Given the description of an element on the screen output the (x, y) to click on. 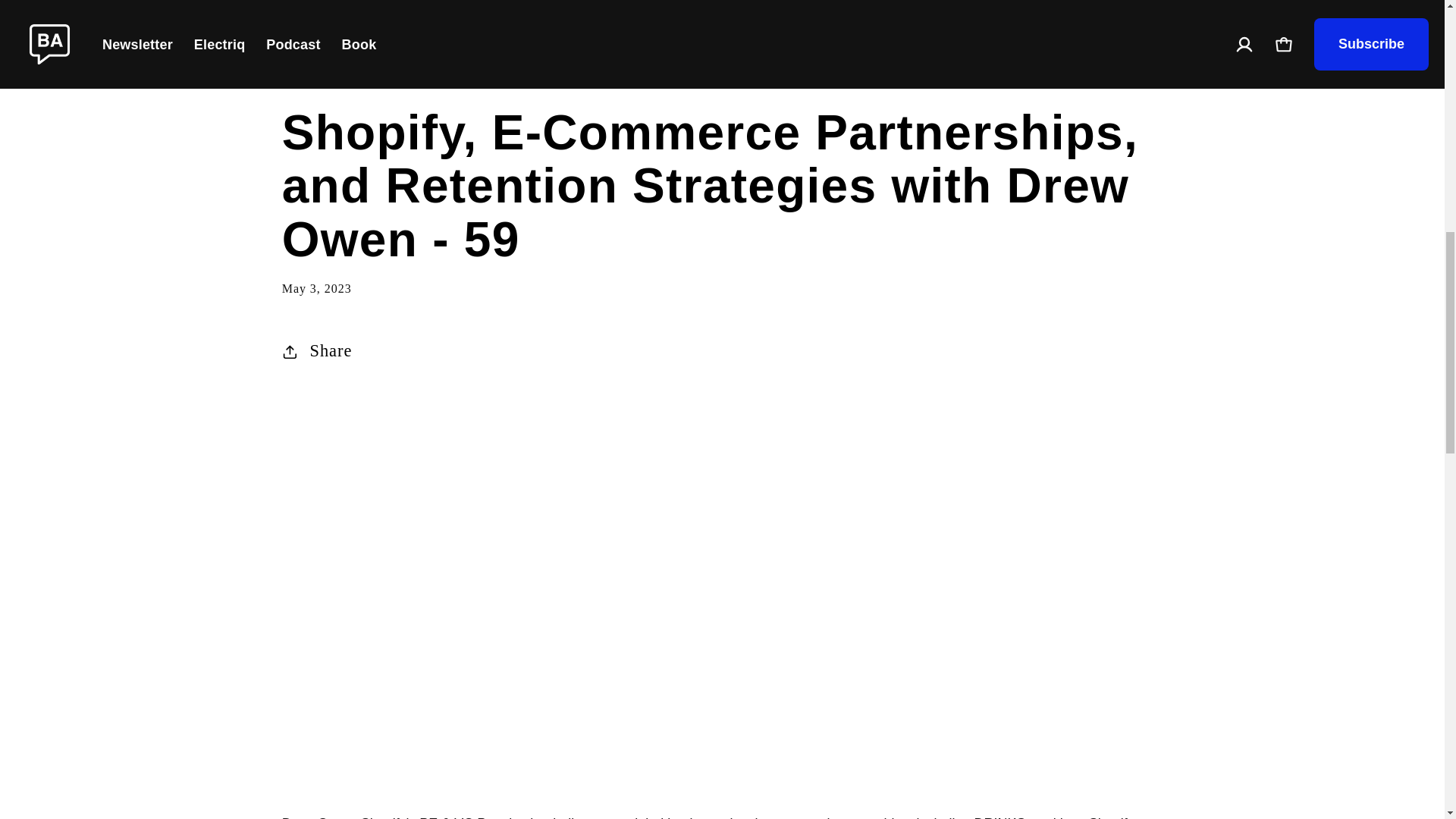
YouTube video player (721, 503)
